Given the description of an element on the screen output the (x, y) to click on. 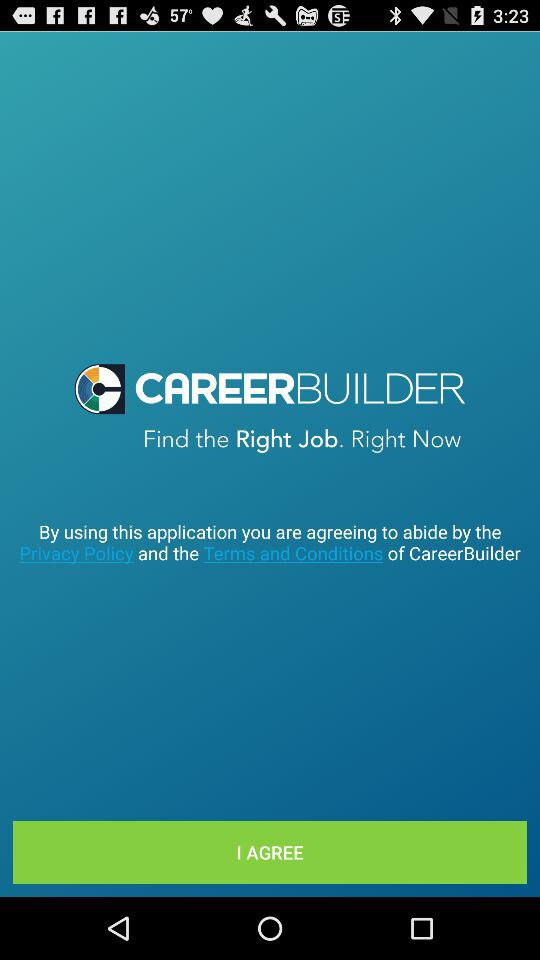
click i agree icon (269, 851)
